Given the description of an element on the screen output the (x, y) to click on. 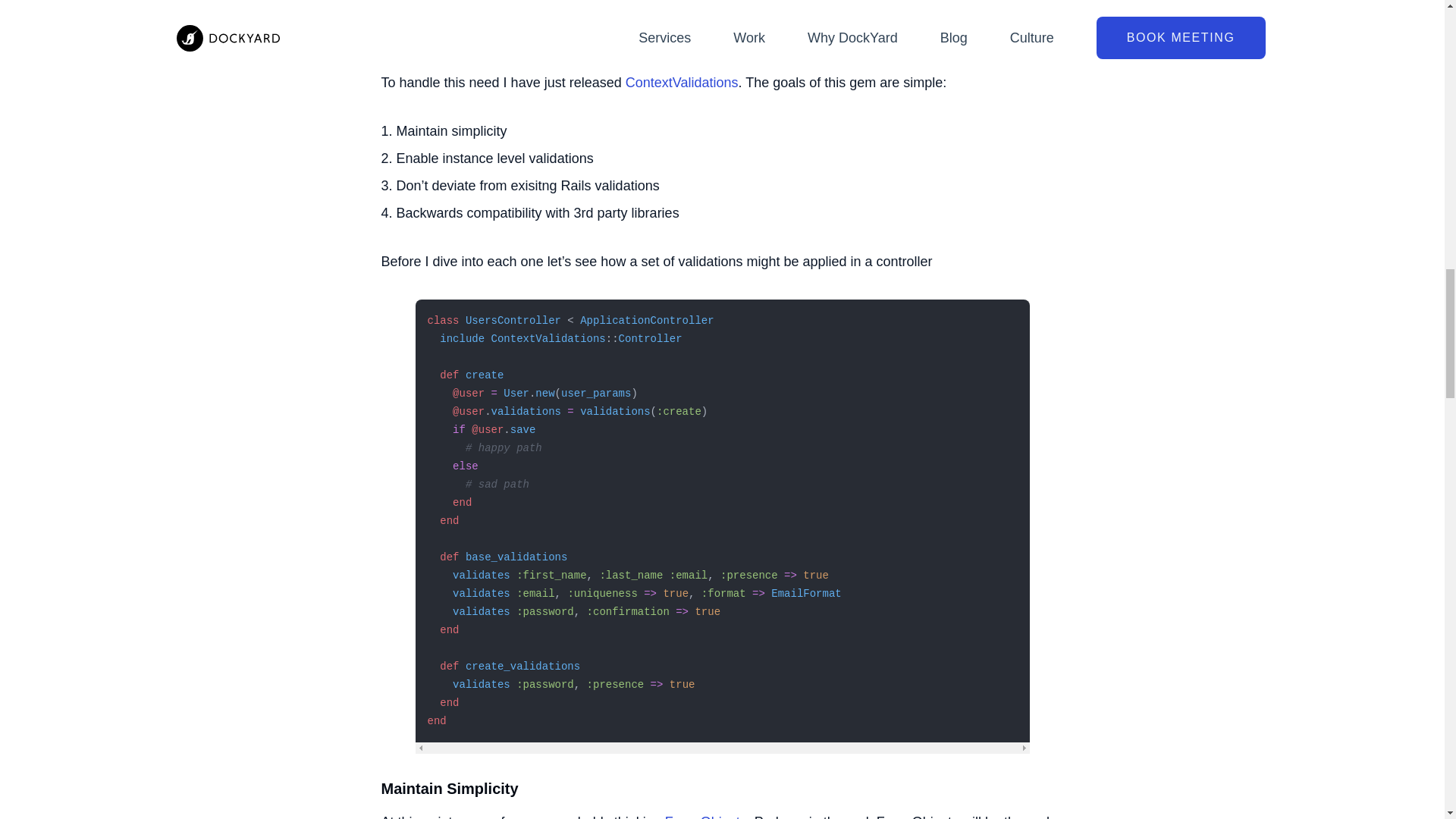
Form Objects (705, 816)
ContextValidations (682, 82)
